Given the description of an element on the screen output the (x, y) to click on. 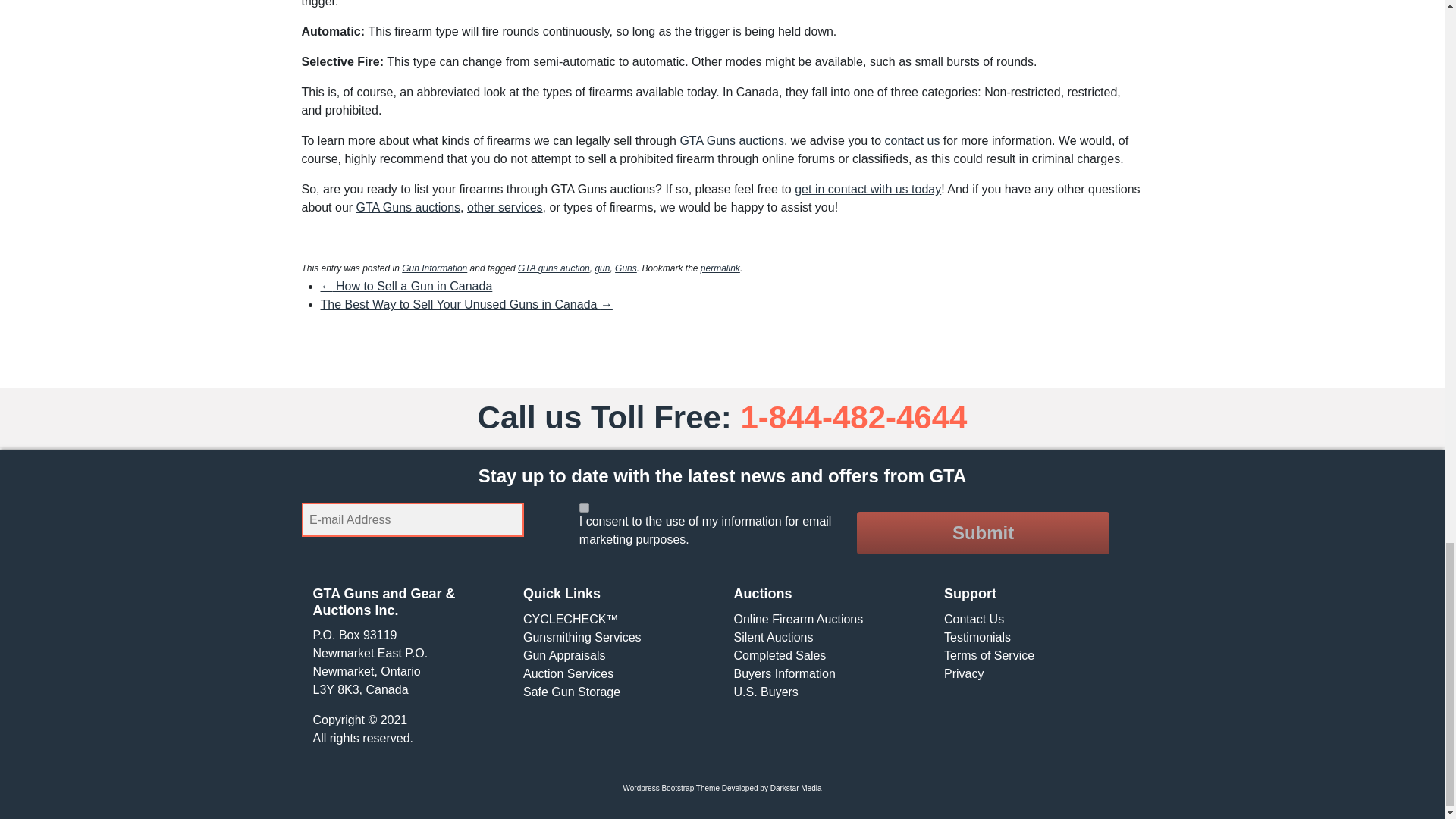
contact us (911, 140)
1 (584, 507)
GTA Guns auctions (731, 140)
get in contact with us today (867, 188)
GTA Guns auctions (408, 206)
other services (505, 206)
